Given the description of an element on the screen output the (x, y) to click on. 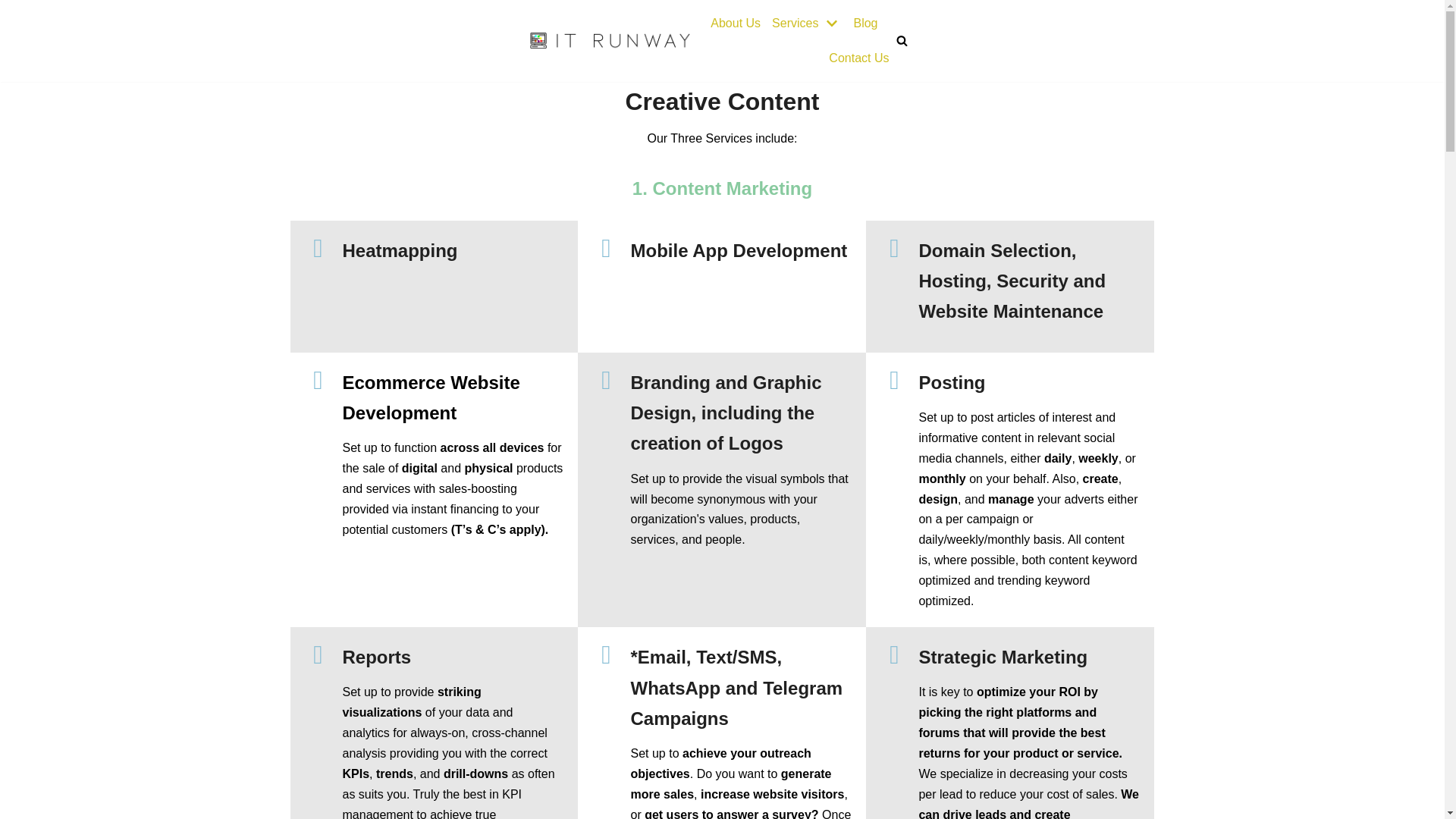
Search (897, 409)
IT Runway (609, 40)
About Us (735, 23)
Blog (865, 23)
Contact Us (858, 57)
Services (806, 23)
Skip to content (15, 31)
